Given the description of an element on the screen output the (x, y) to click on. 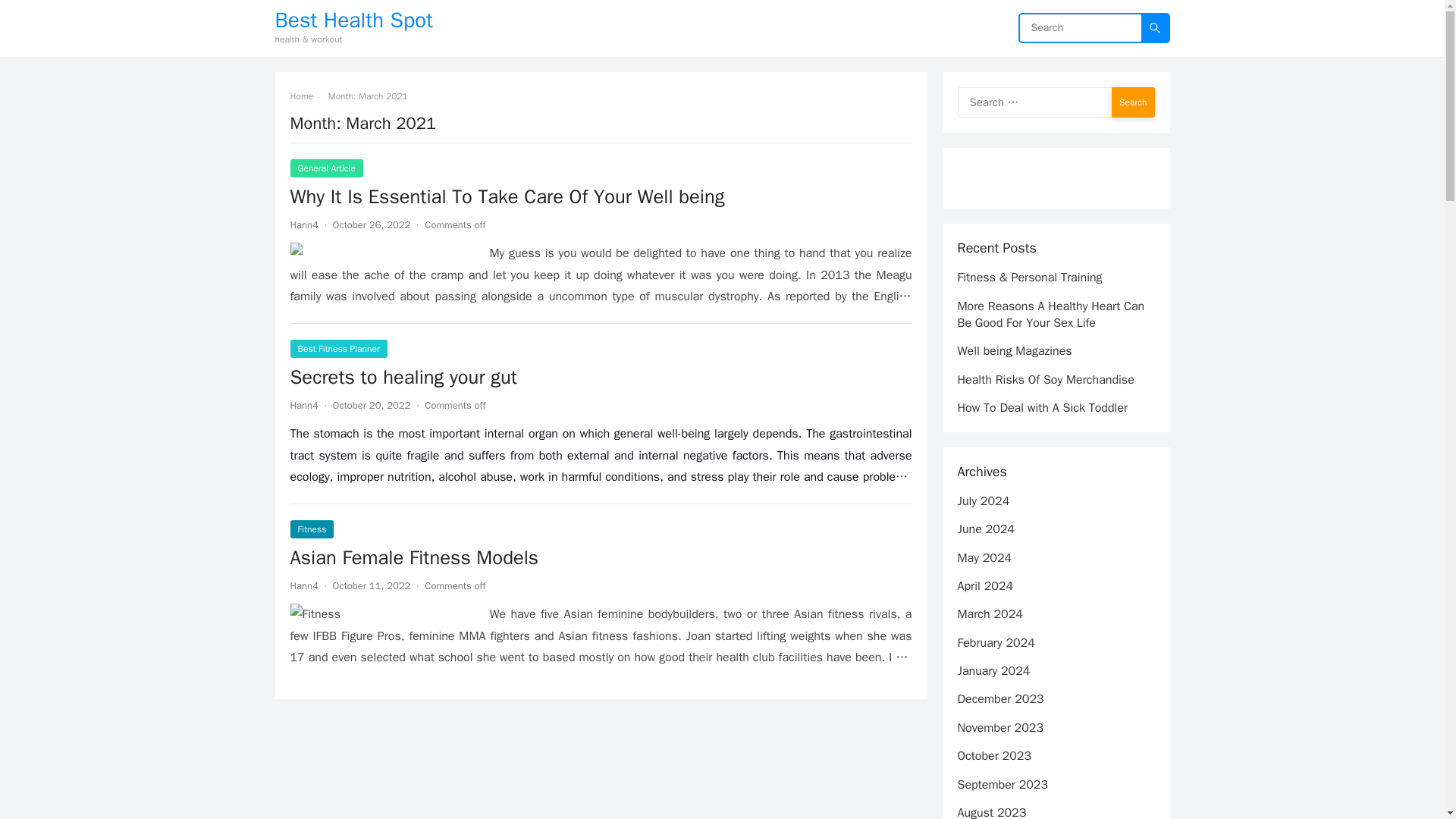
Hann4 (303, 585)
Best Health Spot (353, 20)
Posts by Hann4 (303, 224)
Hann4 (303, 224)
Home (306, 96)
April 2024 (984, 585)
Search (1133, 101)
Best Fitness Planner (338, 348)
October 2023 (993, 755)
Search (1133, 101)
May 2024 (983, 557)
Posts by Hann4 (303, 585)
Search (1133, 101)
November 2023 (999, 727)
Asian Female Fitness Models (413, 557)
